Given the description of an element on the screen output the (x, y) to click on. 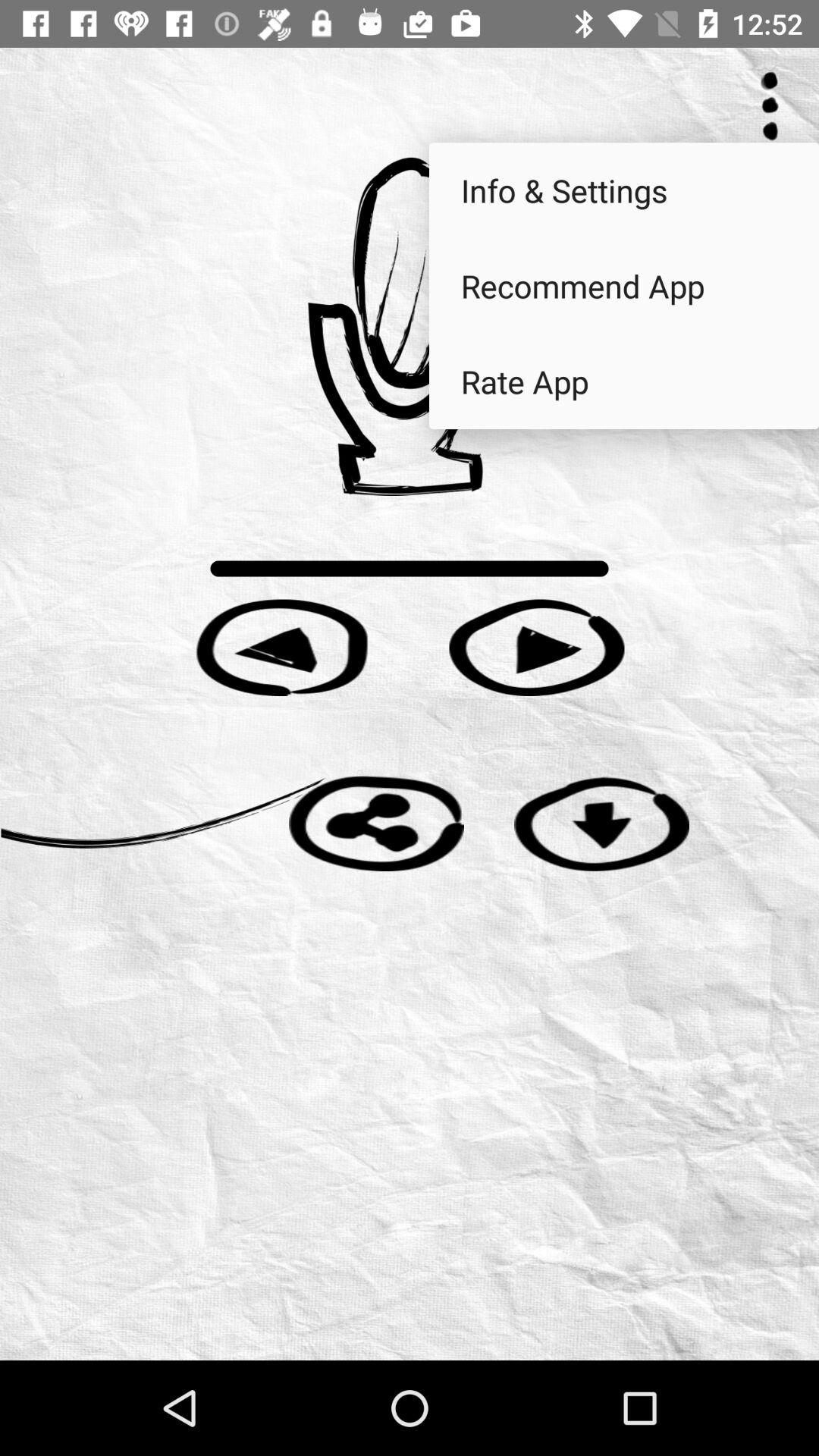
play (281, 647)
